Given the description of an element on the screen output the (x, y) to click on. 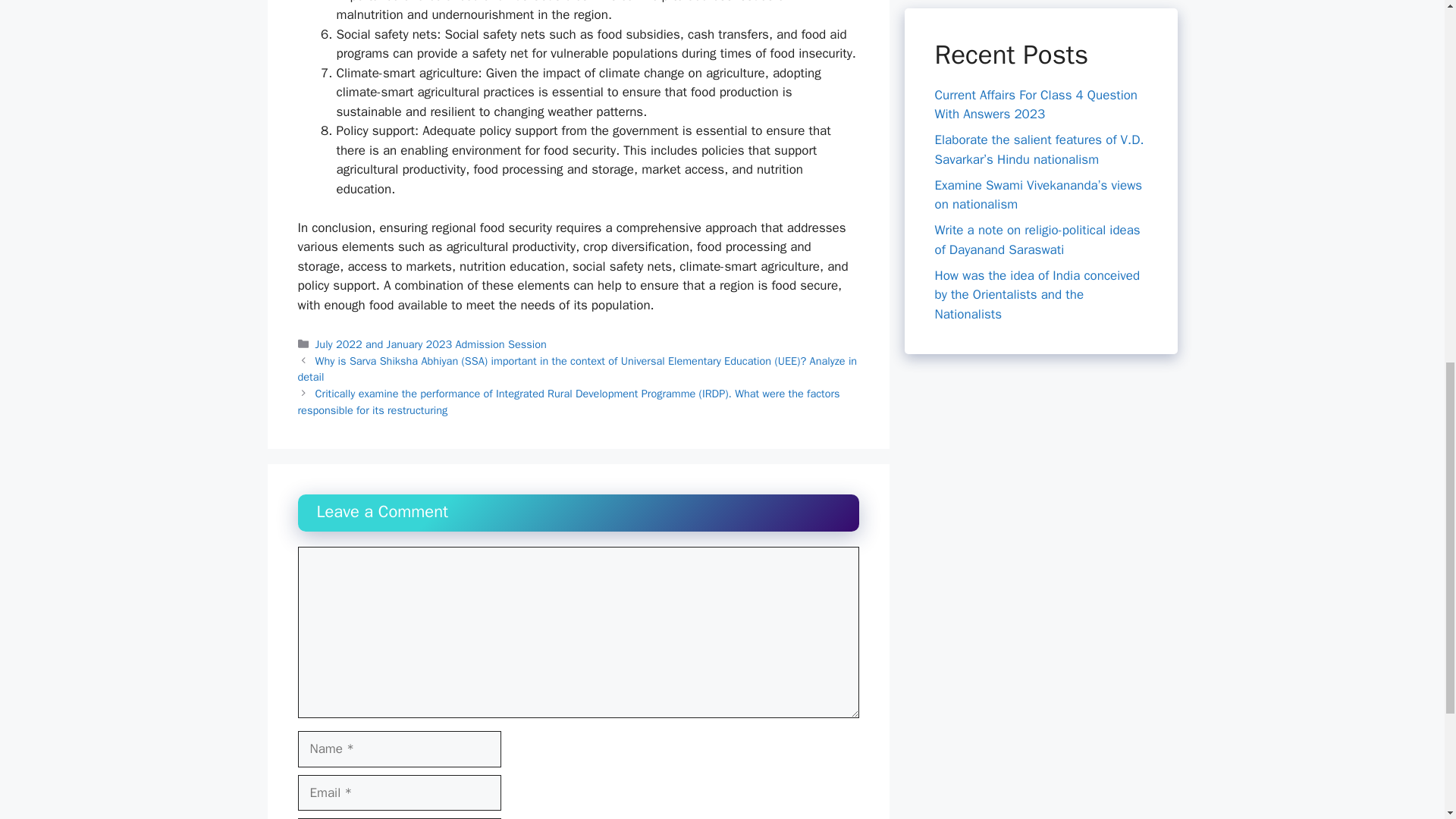
July 2022 and January 2023 Admission Session (431, 344)
